Given the description of an element on the screen output the (x, y) to click on. 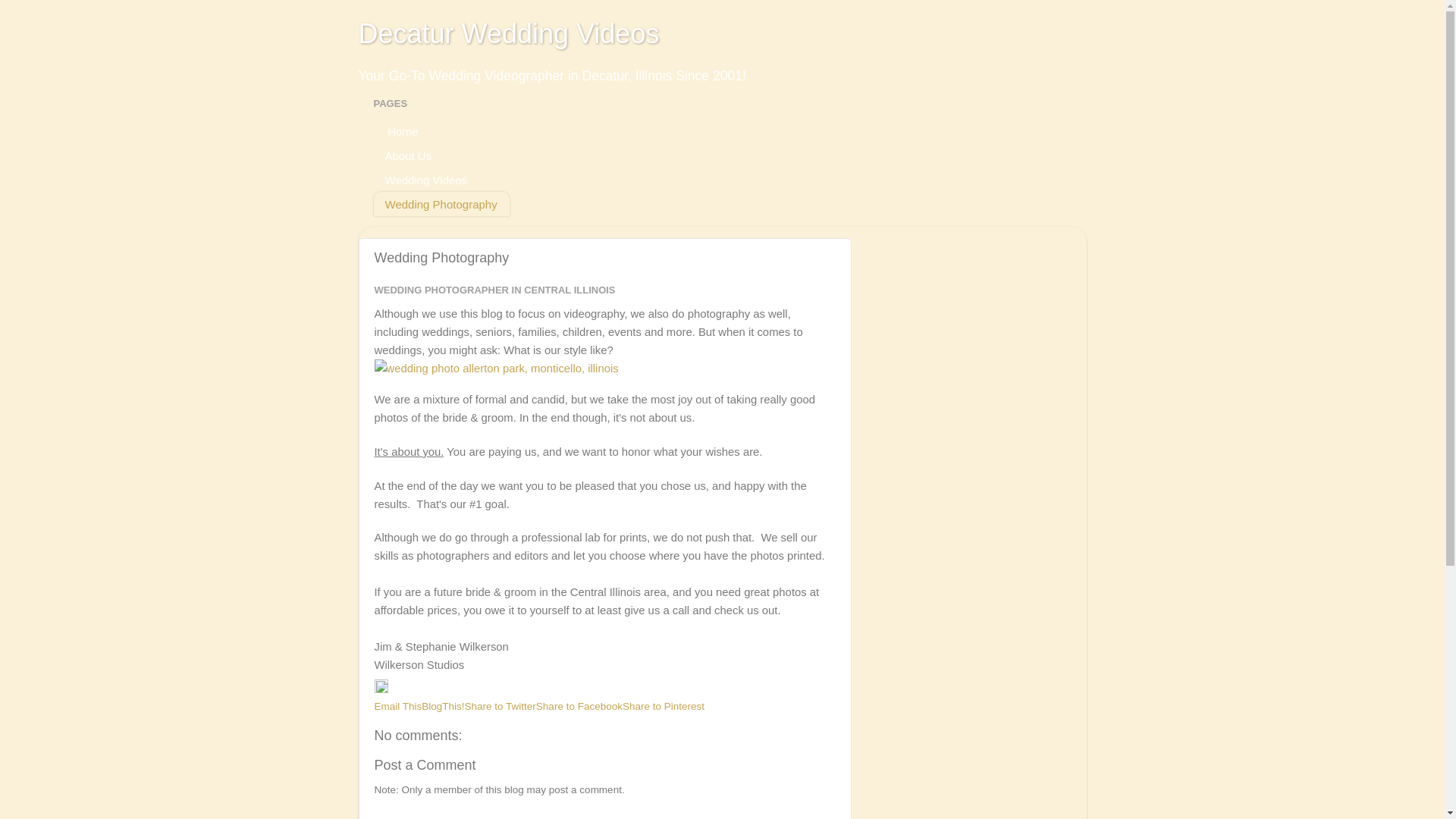
Share to Facebook (579, 706)
Home (400, 130)
Share to Pinterest (663, 706)
Decatur Wedding Videos (508, 33)
Email This (398, 706)
About Us (408, 155)
Share to Twitter (499, 706)
Share to Facebook (579, 706)
BlogThis! (443, 706)
Share to Twitter (499, 706)
Wedding Photography (440, 203)
Wedding Videos (425, 179)
BlogThis! (443, 706)
Email This (398, 706)
Edit Page (381, 689)
